Given the description of an element on the screen output the (x, y) to click on. 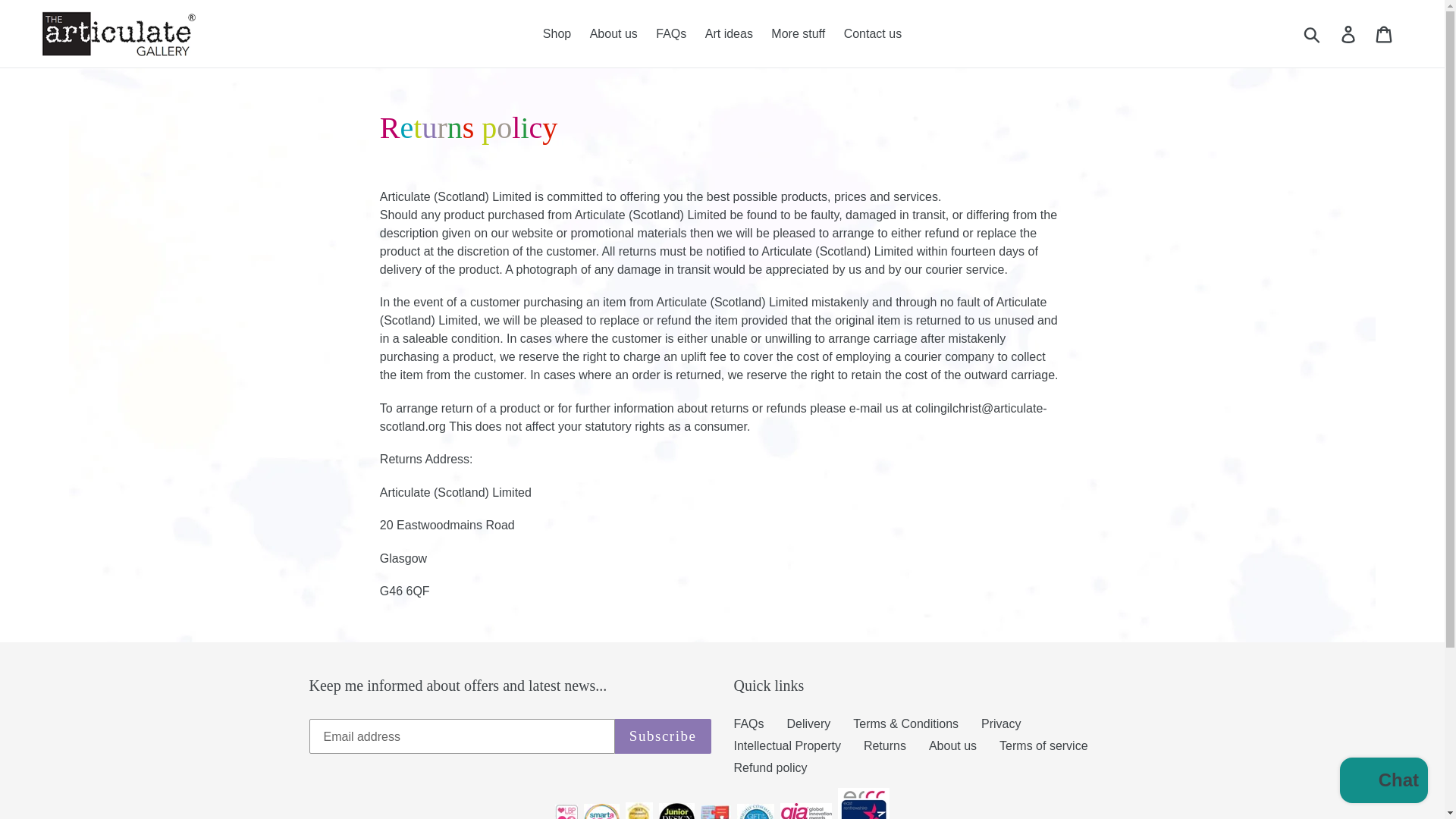
Log in (1349, 32)
FAQs (748, 723)
Submit (1313, 32)
Refund policy (770, 767)
Subscribe (662, 736)
About us (613, 33)
Returns (884, 745)
Art ideas (728, 33)
Intellectual Property (787, 745)
Contact us (871, 33)
